Given the description of an element on the screen output the (x, y) to click on. 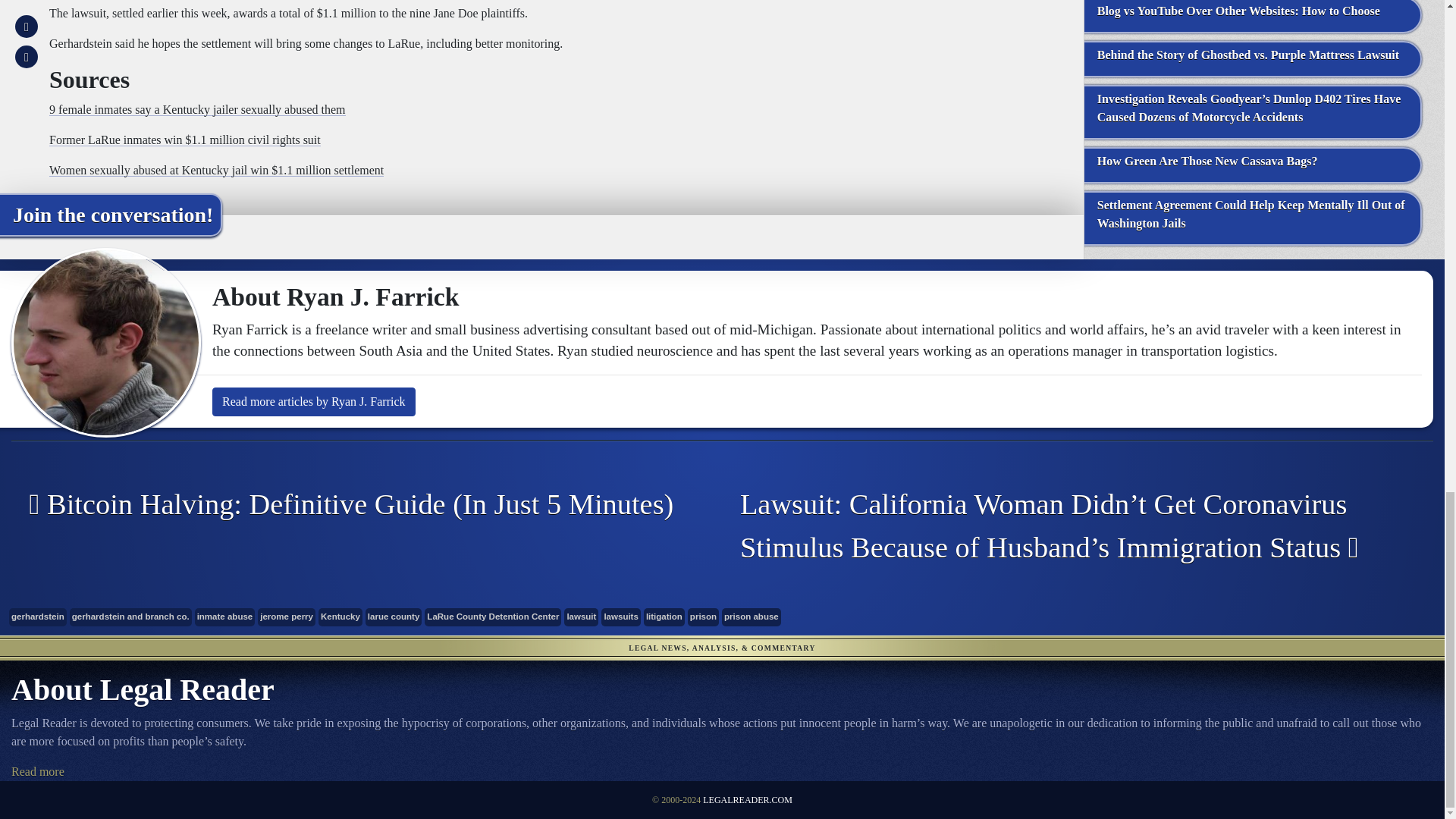
gerhardstein and branch co. (130, 616)
9 female inmates say a Kentucky jailer sexually abused them (197, 109)
gerhardstein (37, 616)
LaRue County Detention Center (492, 616)
lawsuits (620, 616)
inmate abuse (225, 616)
Read more articles by Ryan J. Farrick (313, 401)
jerome perry (286, 616)
larue county (393, 616)
lawsuit (581, 616)
